Given the description of an element on the screen output the (x, y) to click on. 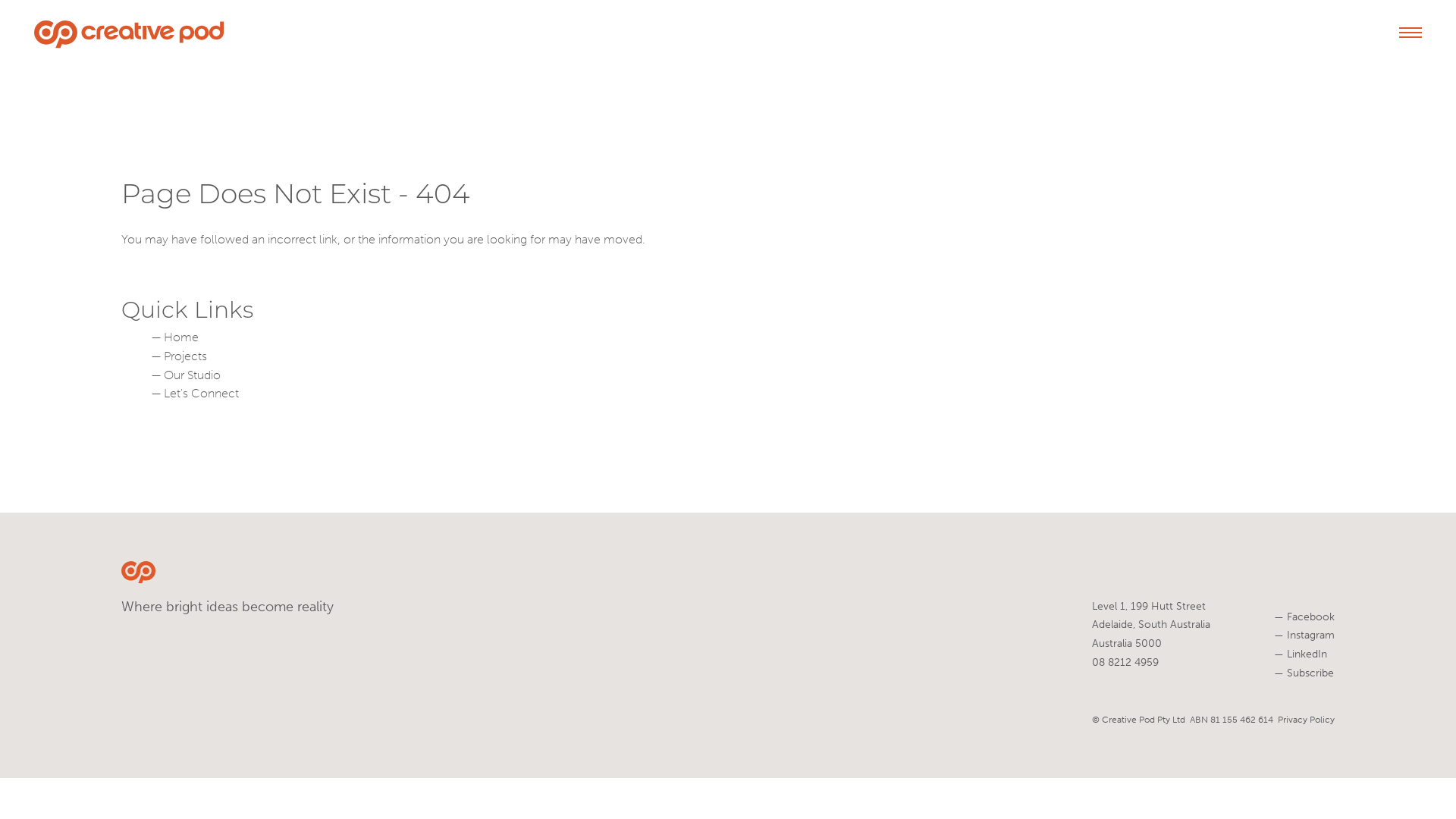
Privacy Policy Element type: text (1305, 719)
